Given the description of an element on the screen output the (x, y) to click on. 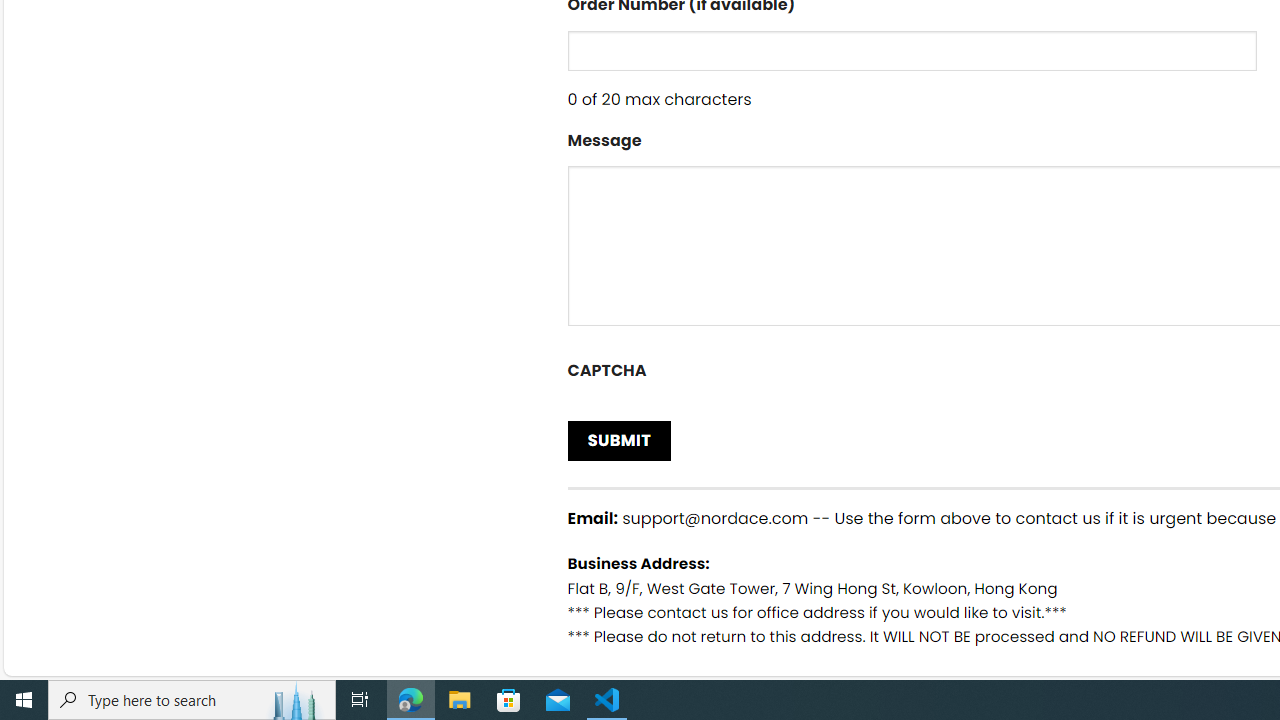
Submit (619, 439)
Order Number (if available) (911, 50)
